Given the description of an element on the screen output the (x, y) to click on. 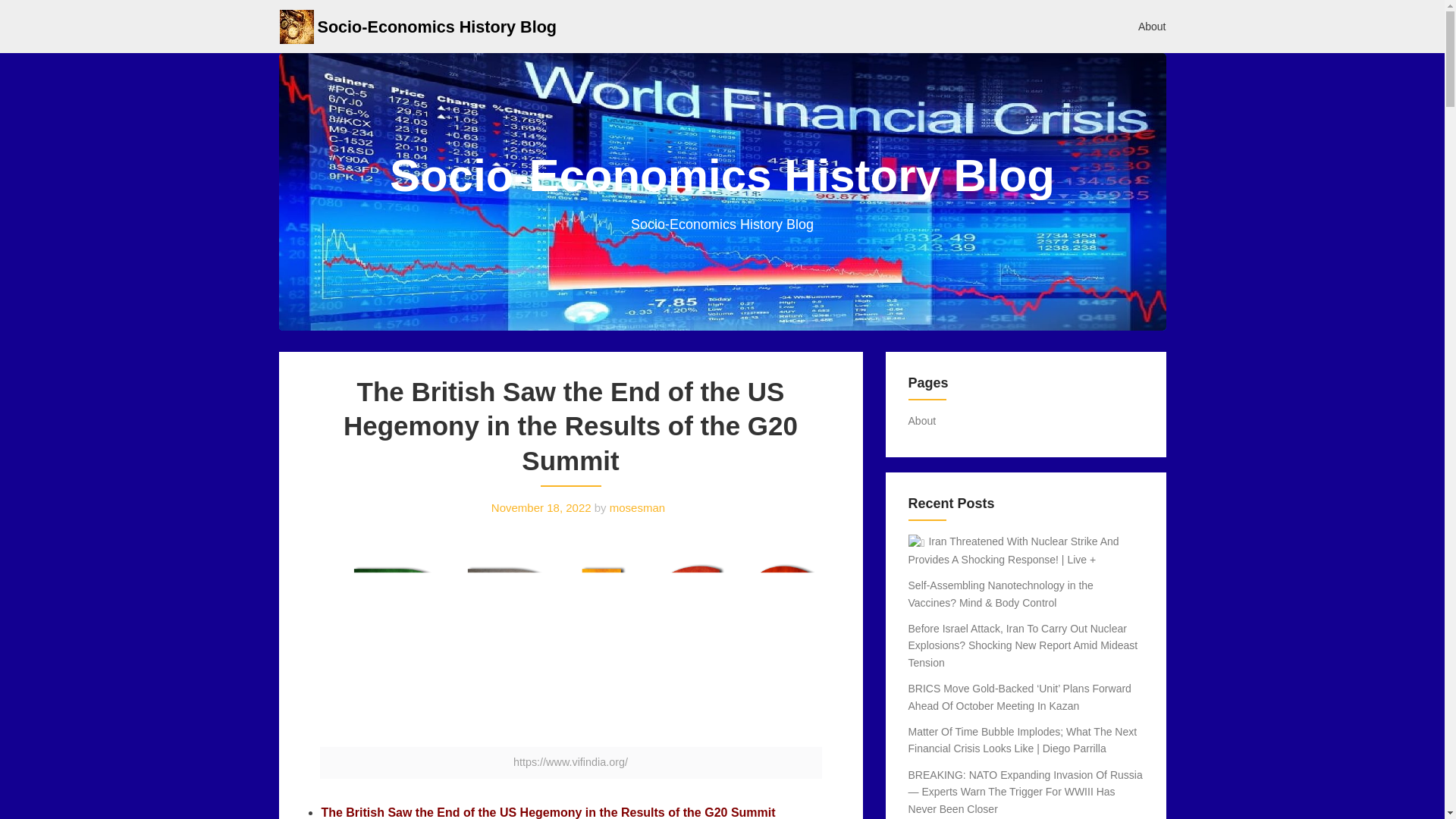
About (1151, 26)
November 18, 2022 (541, 507)
Socio-Economics History Blog (436, 26)
About (922, 420)
